Given the description of an element on the screen output the (x, y) to click on. 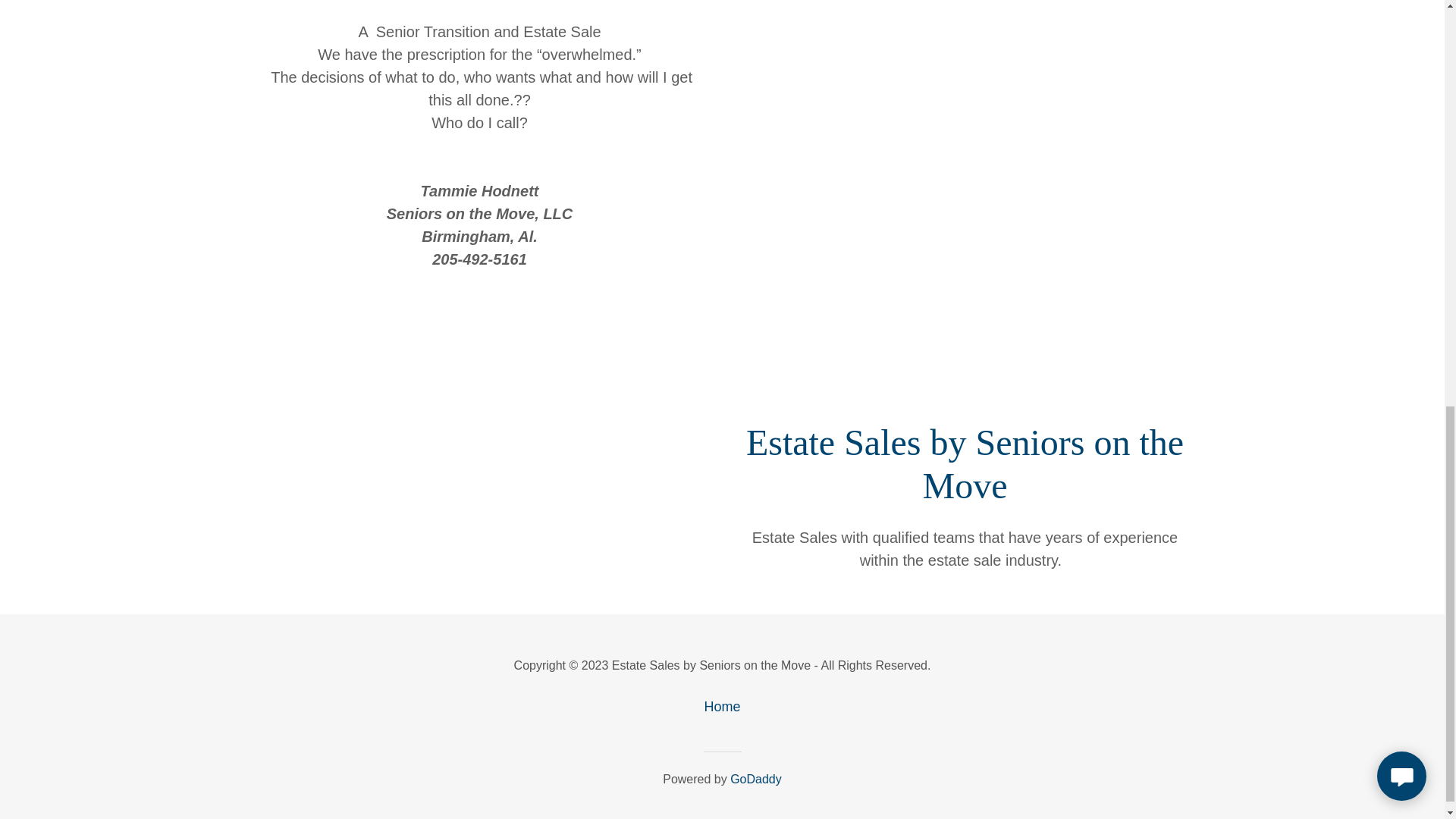
GoDaddy (755, 779)
Home (721, 706)
ACCEPT (1274, 324)
